Given the description of an element on the screen output the (x, y) to click on. 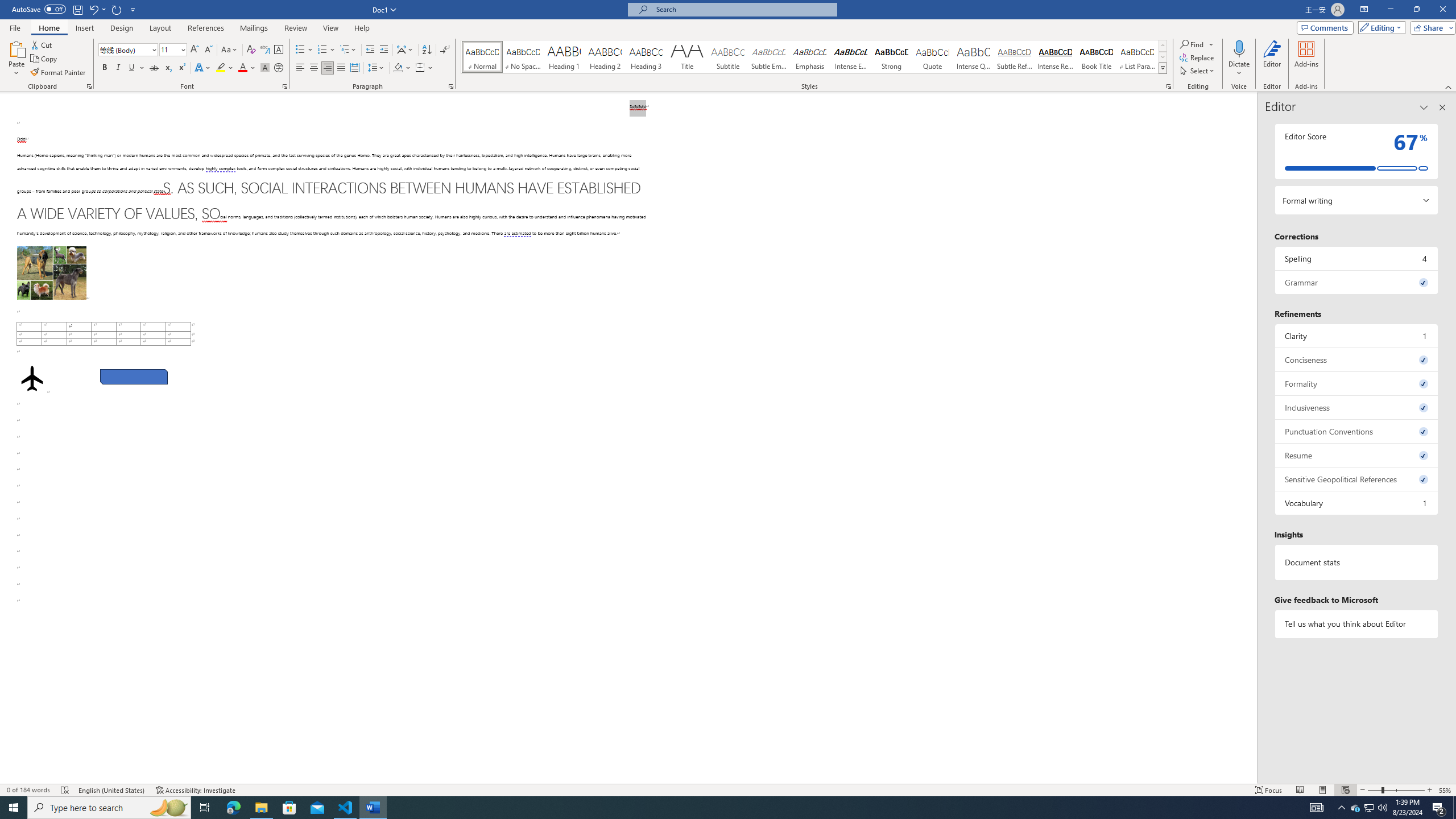
Multilevel List (347, 49)
AutomationID: QuickStylesGallery (814, 56)
Character Border (278, 49)
Repeat Paragraph Alignment (117, 9)
Class: MsoCommandBar (728, 45)
Align Right (327, 67)
Language English (United States) (111, 790)
